Given the description of an element on the screen output the (x, y) to click on. 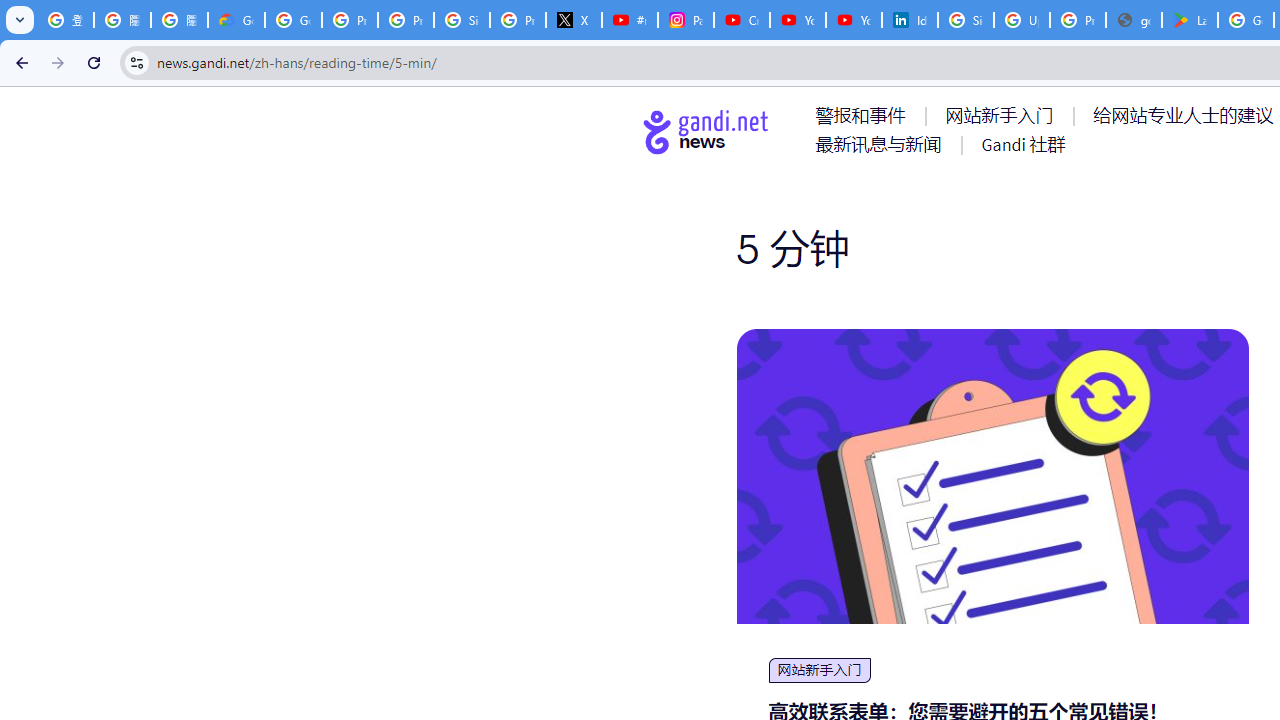
#nbabasketballhighlights - YouTube (629, 20)
AutomationID: menu-item-77767 (1022, 143)
X (573, 20)
Sign in - Google Accounts (461, 20)
Sign in - Google Accounts (966, 20)
AutomationID: menu-item-77761 (863, 115)
